Given the description of an element on the screen output the (x, y) to click on. 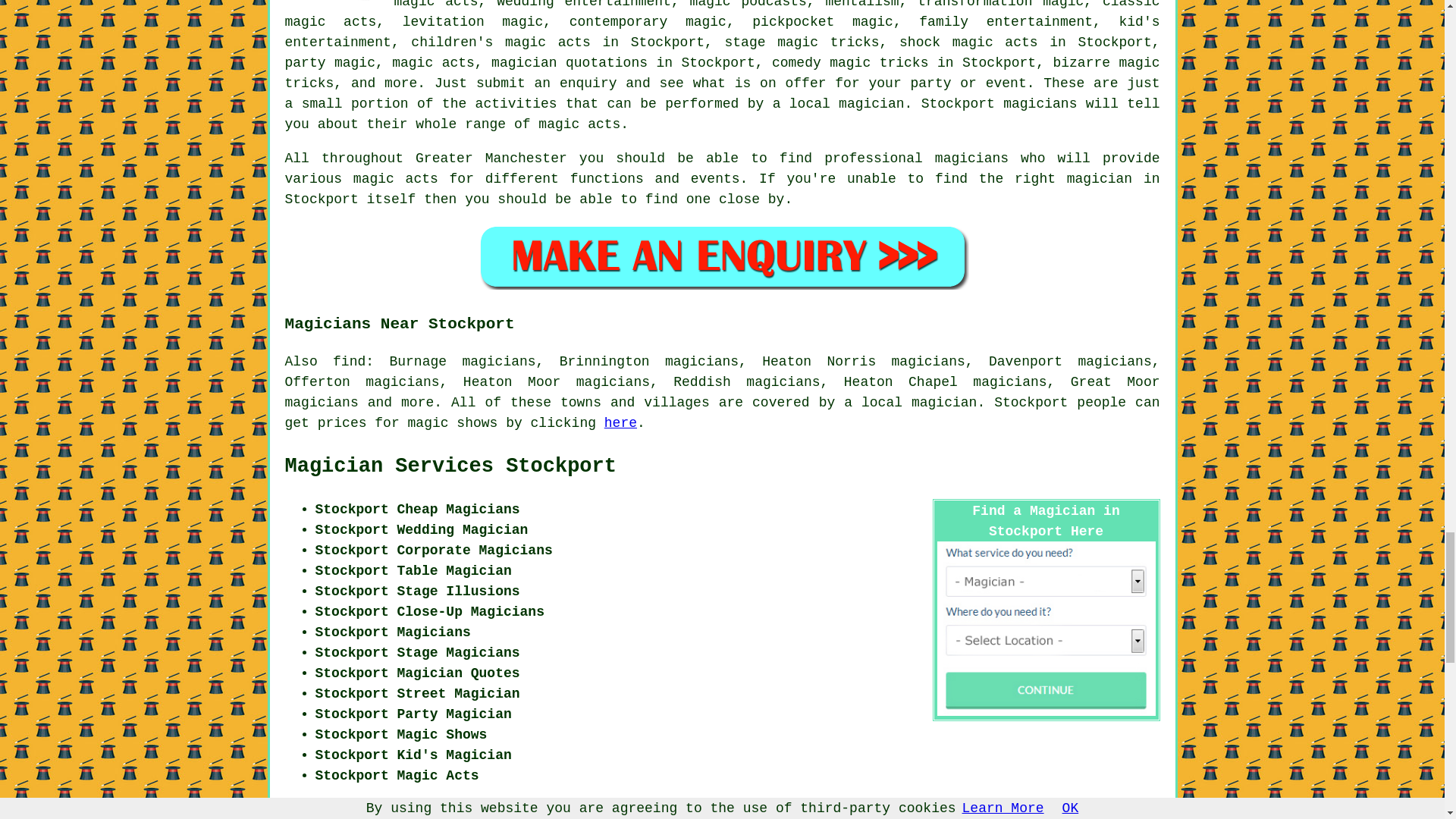
Magic Performances Stockport (334, 4)
magic (710, 4)
STOCKPORT MAGICIAN QUOTES (722, 256)
magic shows (452, 422)
a local magician (838, 103)
a local magician (910, 402)
